Given the description of an element on the screen output the (x, y) to click on. 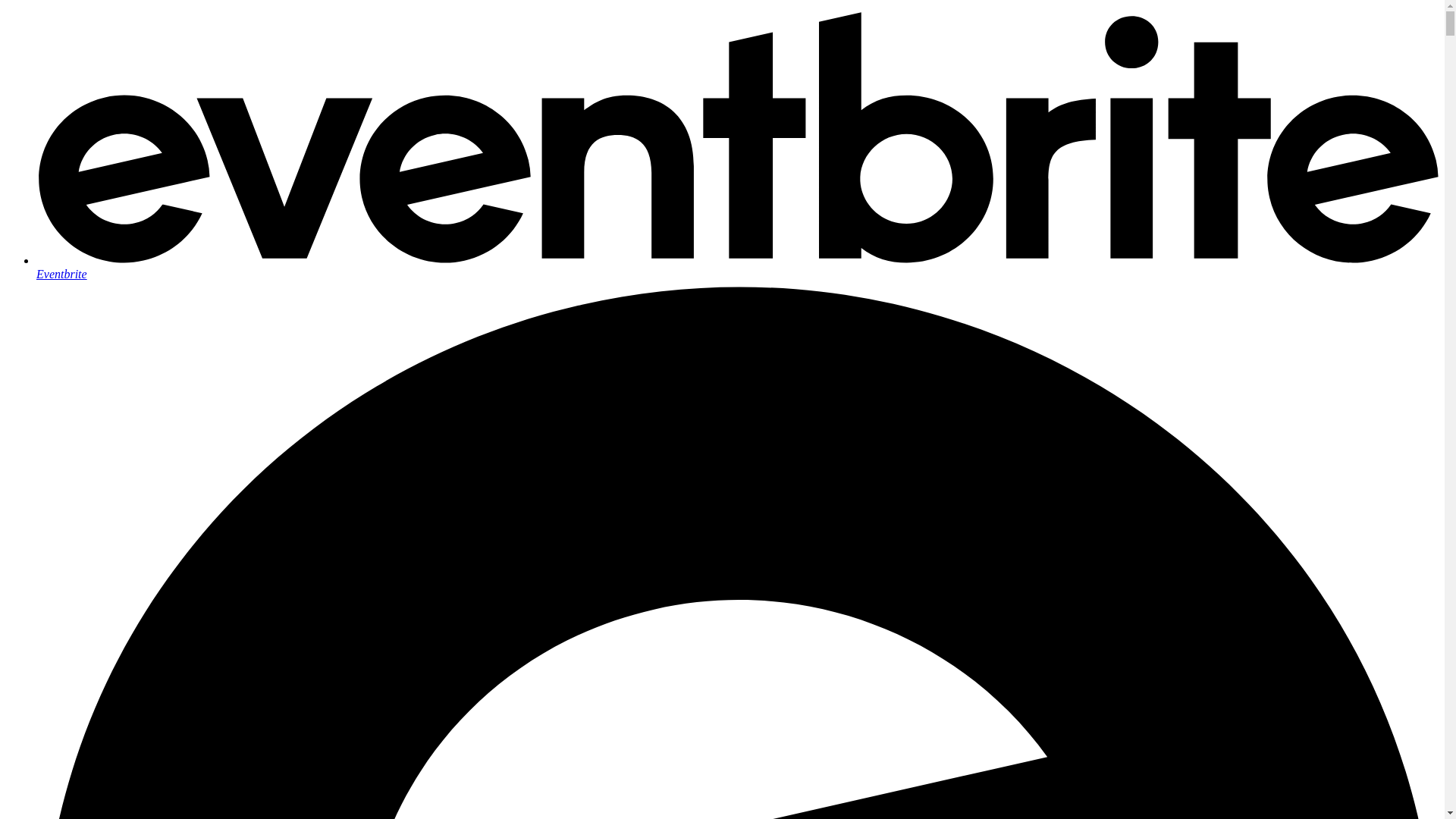
Eventbrite Element type: text (737, 267)
